Given the description of an element on the screen output the (x, y) to click on. 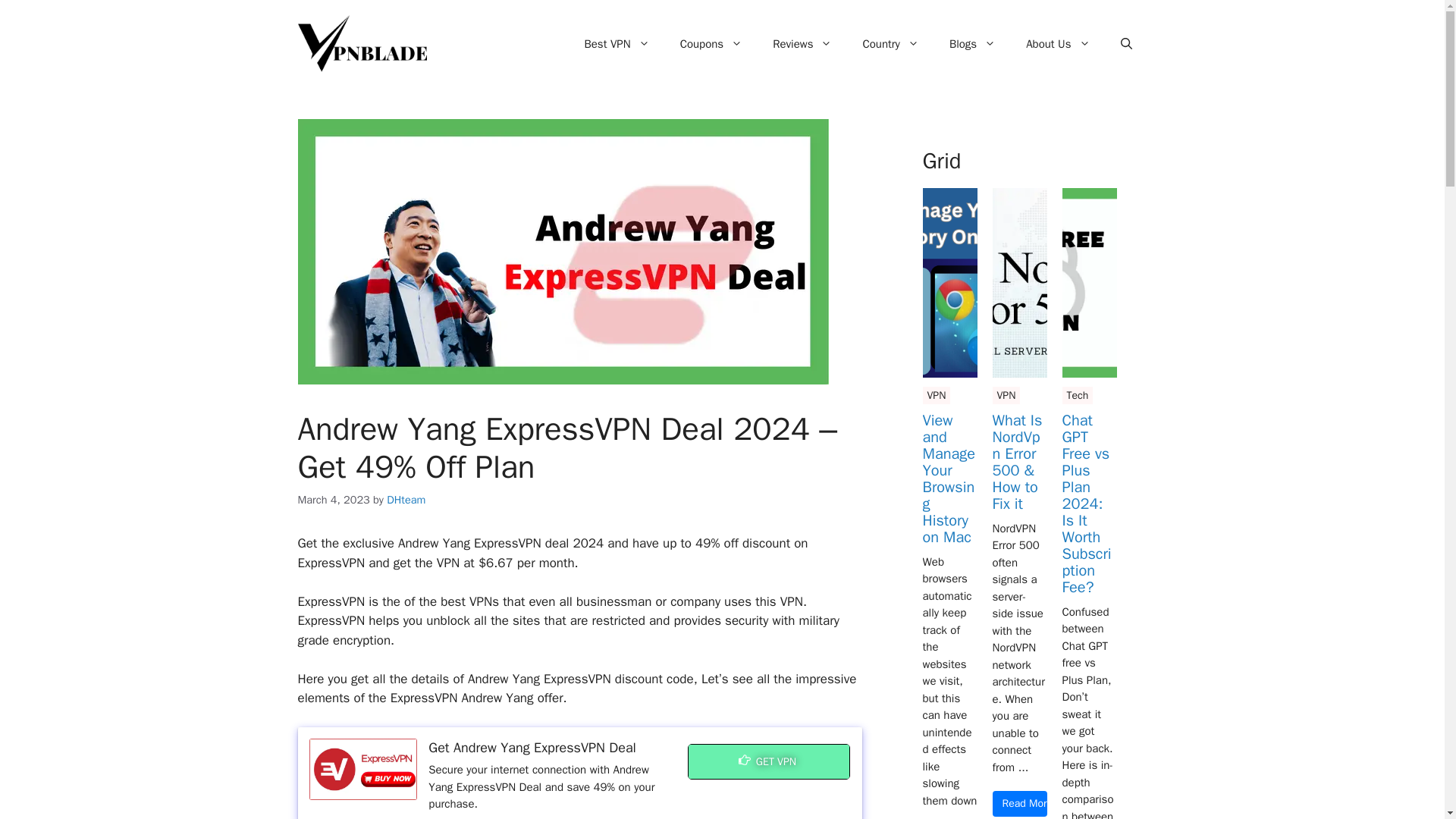
Best VPN (616, 43)
View all posts by DHteam (406, 499)
Get VPN (768, 761)
Coupons (711, 43)
Get Andrew Yang ExpressVPN Deal (362, 768)
